Given the description of an element on the screen output the (x, y) to click on. 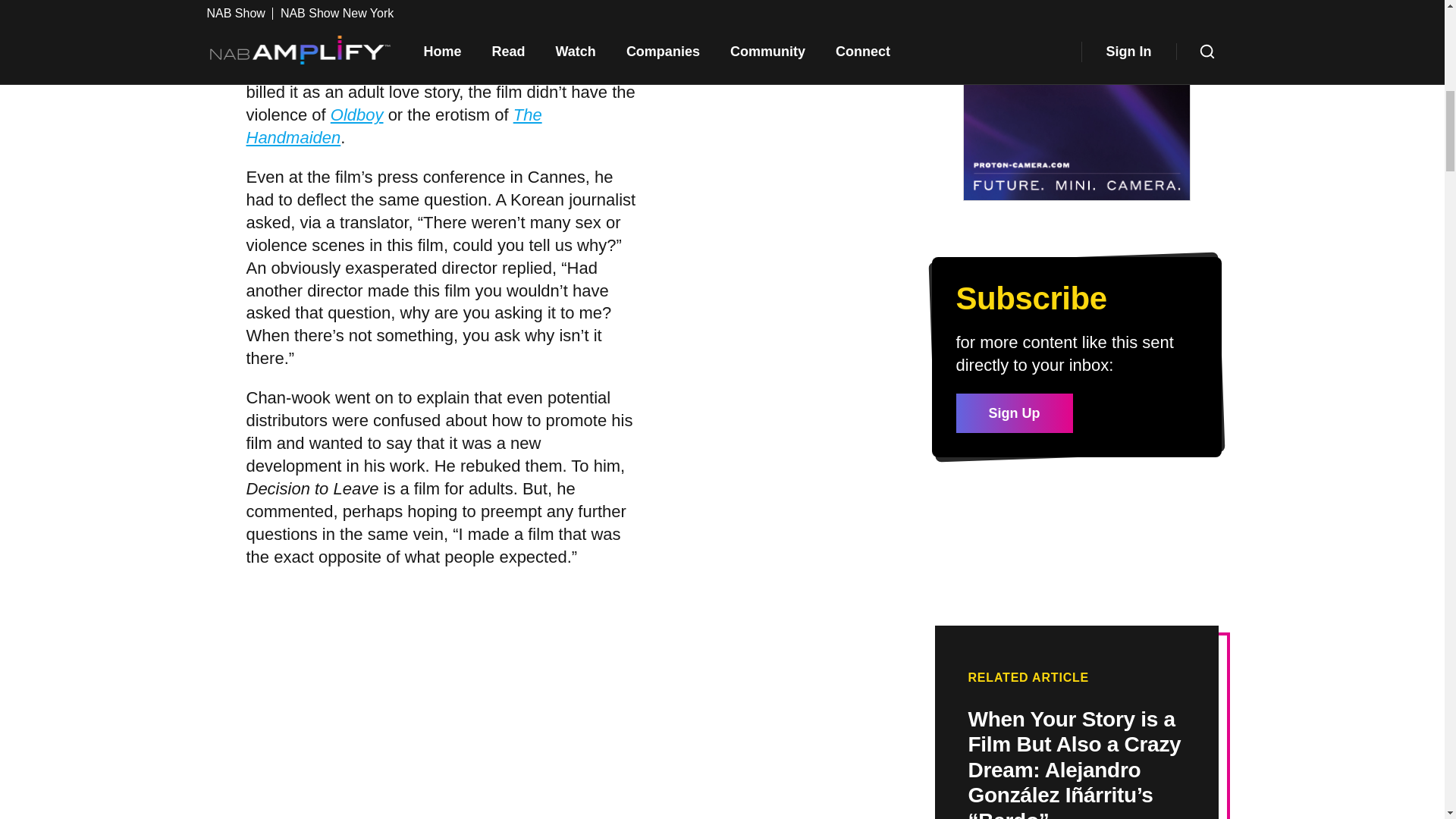
Proton Camera Innovations PROTON CAM  (1076, 101)
Oldboy (357, 114)
The Handmaiden (393, 126)
